Given the description of an element on the screen output the (x, y) to click on. 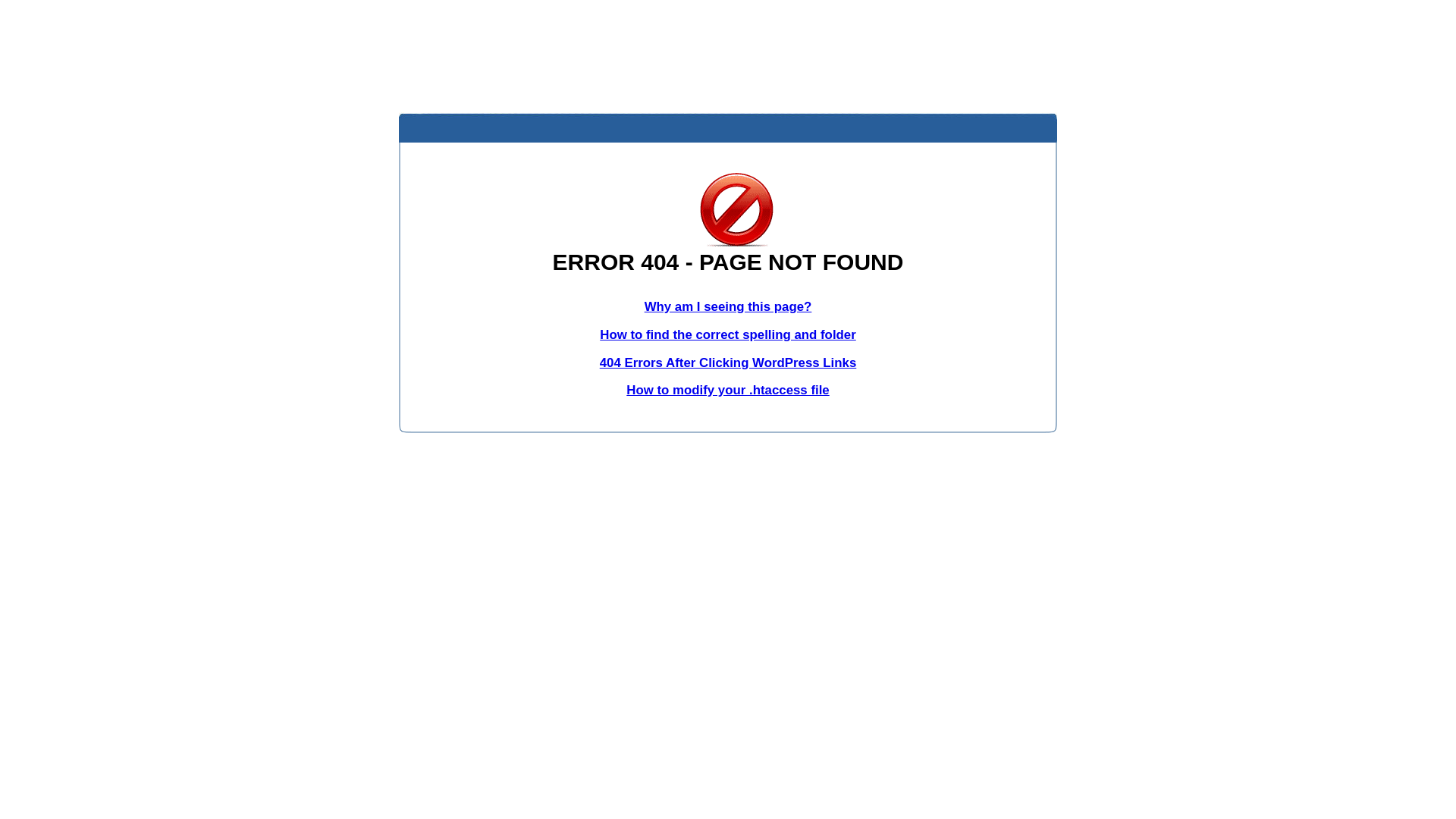
How to modify your .htaccess file Element type: text (727, 389)
How to find the correct spelling and folder Element type: text (727, 334)
Why am I seeing this page? Element type: text (728, 306)
404 Errors After Clicking WordPress Links Element type: text (727, 362)
